Given the description of an element on the screen output the (x, y) to click on. 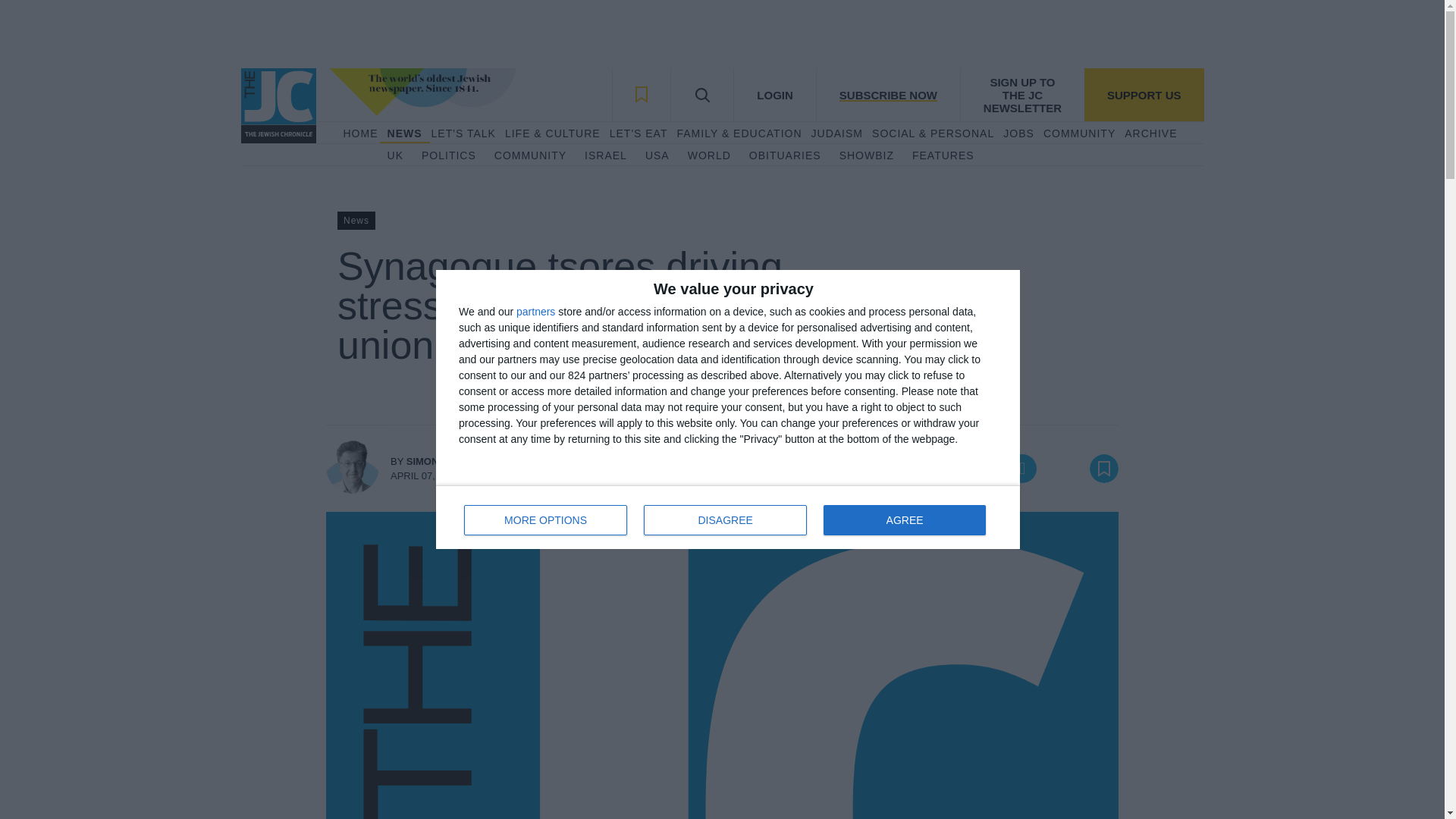
SUBSCRIBE NOW (887, 94)
AGREE (904, 520)
FEATURES (943, 155)
COMMUNITY (530, 155)
WORLD (708, 155)
SIGN UP TO THE JC NEWSLETTER (1021, 94)
NEWS (404, 133)
POLITICS (449, 155)
SUPPORT US (1144, 94)
OBITUARIES (785, 155)
JUDAISM (836, 133)
JOBS (1018, 133)
HOME (359, 133)
DISAGREE (724, 520)
MORE OPTIONS (545, 520)
